Given the description of an element on the screen output the (x, y) to click on. 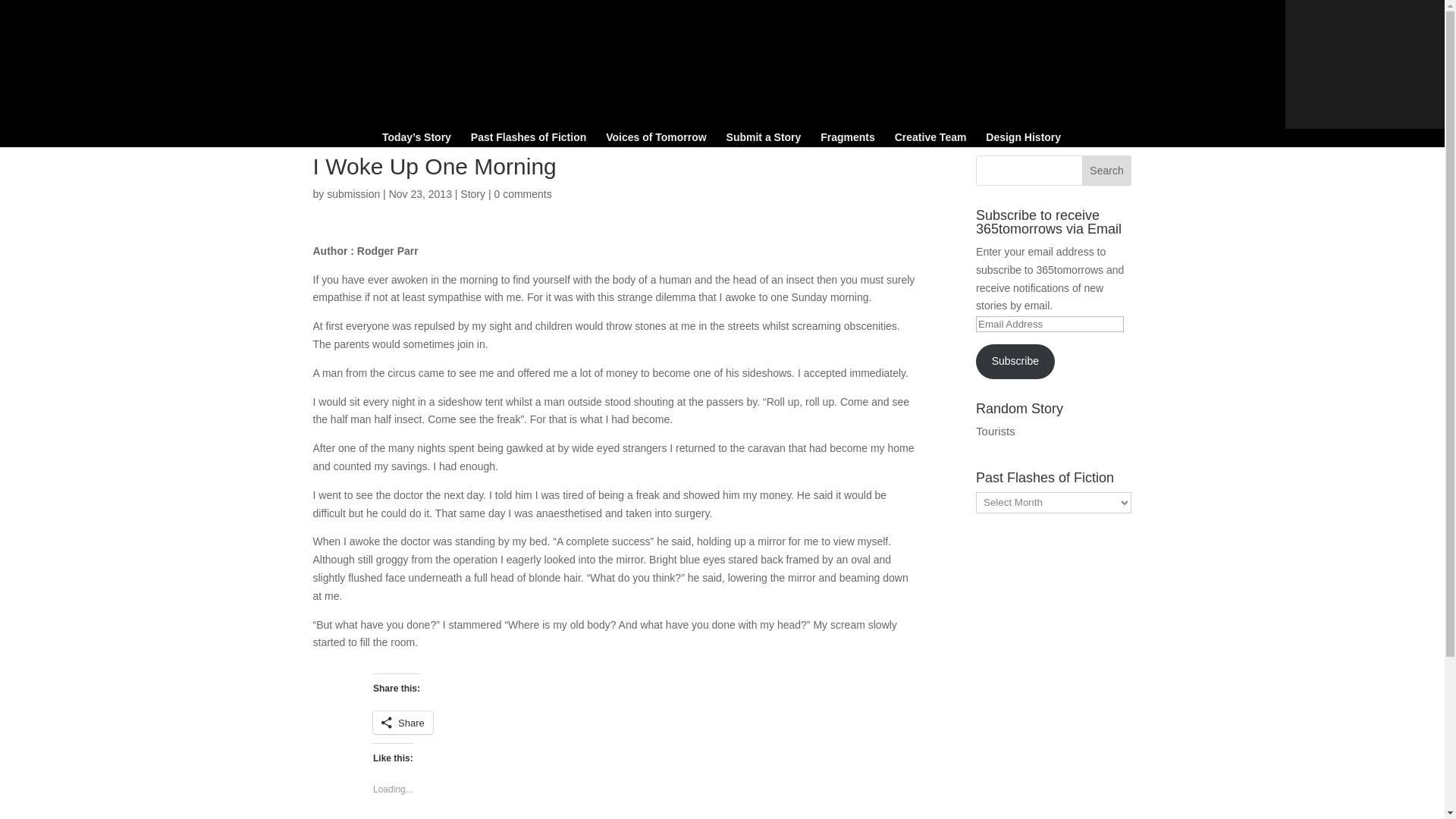
Voices of Tomorrow (655, 139)
0 comments (522, 193)
Submit a Story (764, 139)
Story (472, 193)
Design History (1023, 139)
submission (353, 193)
Share (402, 722)
Search (1106, 170)
Posts by submission (353, 193)
Past Flashes of Fiction (528, 139)
